Given the description of an element on the screen output the (x, y) to click on. 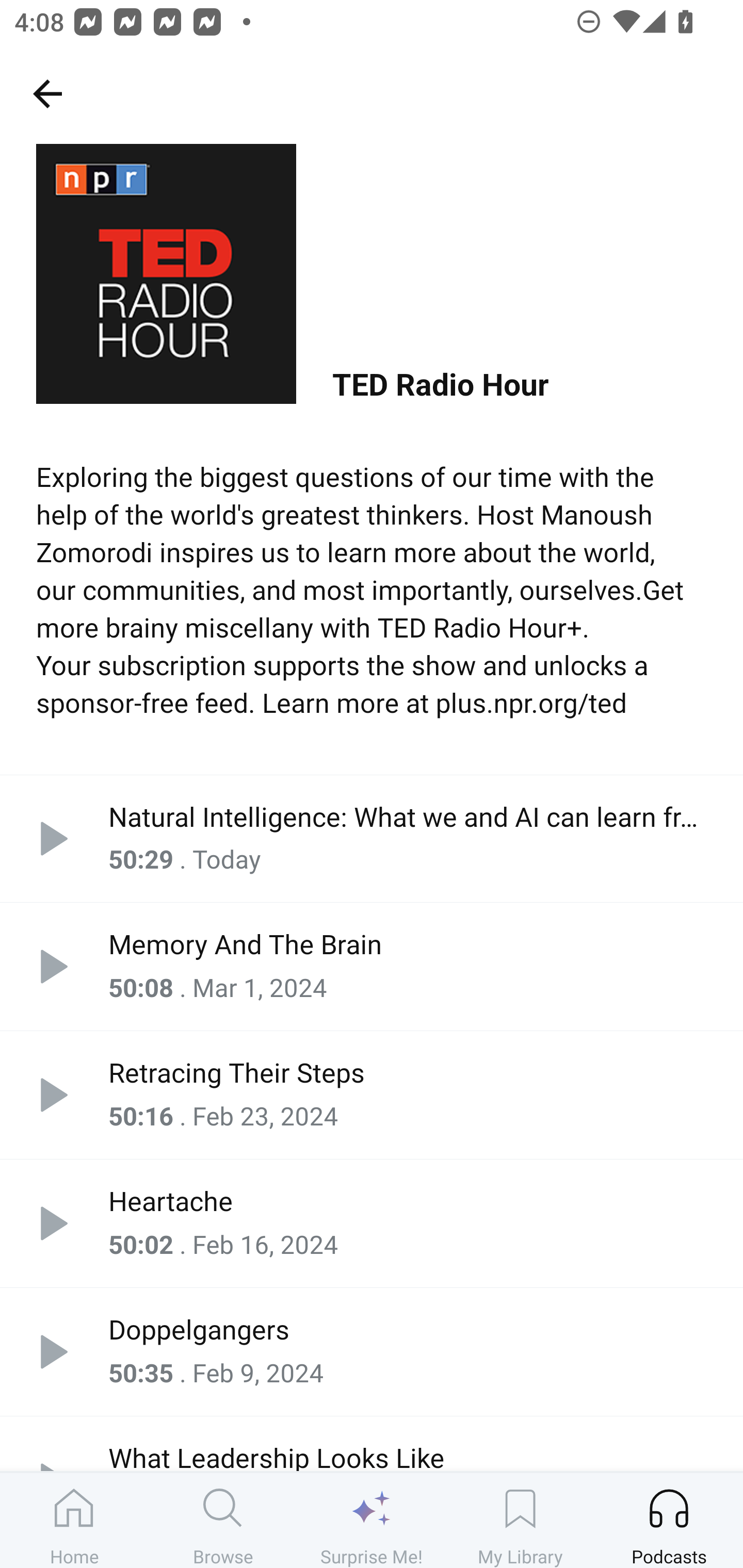
TED Podcasts, back (47, 92)
Memory And The Brain 50:08 . Mar 1, 2024 (371, 966)
Retracing Their Steps 50:16 . Feb 23, 2024 (371, 1094)
Heartache 50:02 . Feb 16, 2024 (371, 1222)
Doppelgangers 50:35 . Feb 9, 2024 (371, 1351)
What Leadership Looks Like (371, 1442)
Home (74, 1520)
Browse (222, 1520)
Surprise Me! (371, 1520)
My Library (519, 1520)
Podcasts (668, 1520)
